Given the description of an element on the screen output the (x, y) to click on. 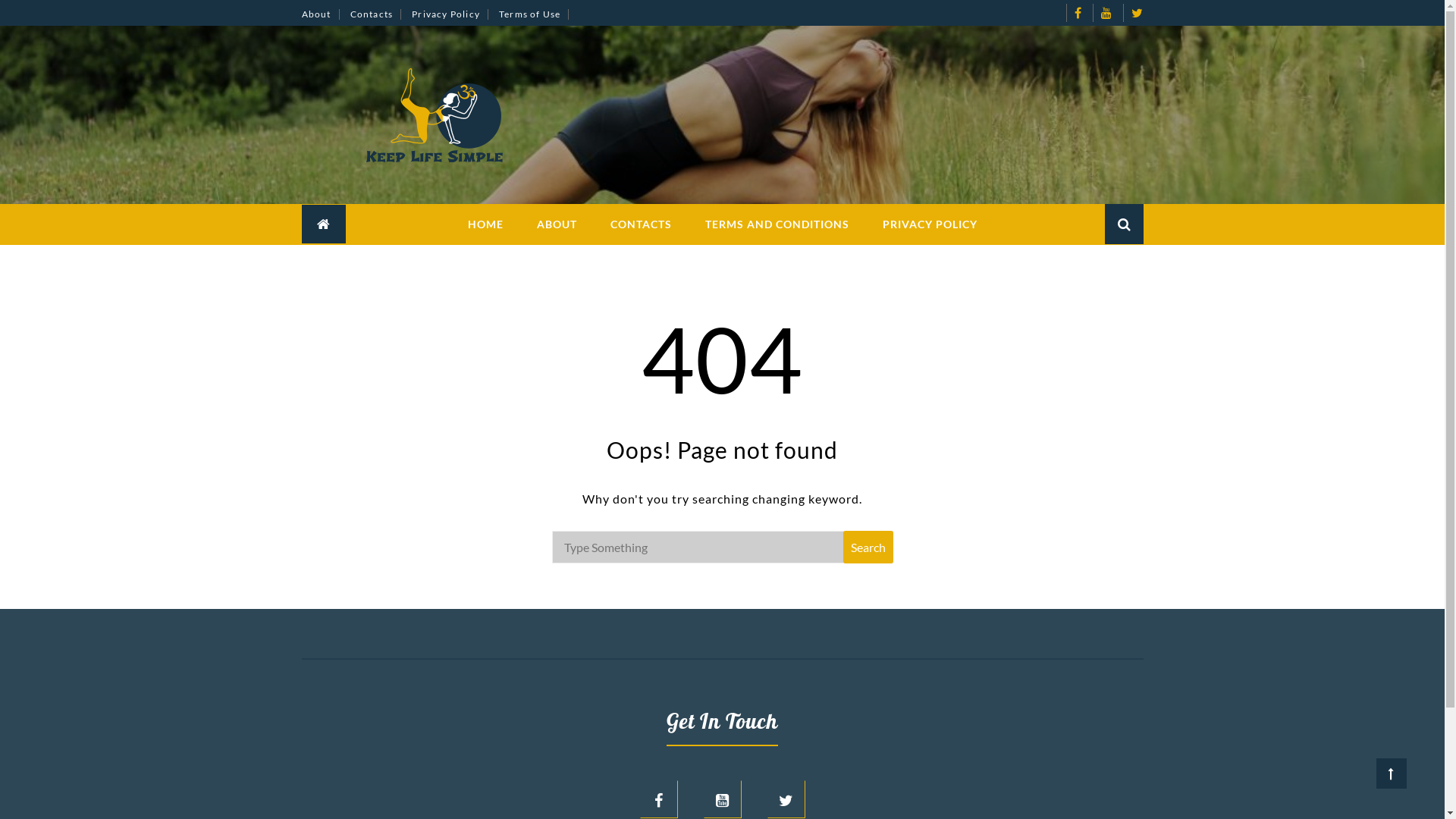
Search Element type: text (868, 546)
HOME Element type: text (484, 223)
TERMS AND CONDITIONS Element type: text (777, 223)
About Element type: text (320, 14)
ABOUT Element type: text (556, 223)
Terms of Use Element type: text (533, 14)
Search Element type: text (1105, 265)
Privacy Policy Element type: text (449, 14)
keeplifesimple.com.au Element type: text (729, 84)
PRIVACY POLICY Element type: text (929, 223)
Contacts Element type: text (375, 14)
CONTACTS Element type: text (640, 223)
